Given the description of an element on the screen output the (x, y) to click on. 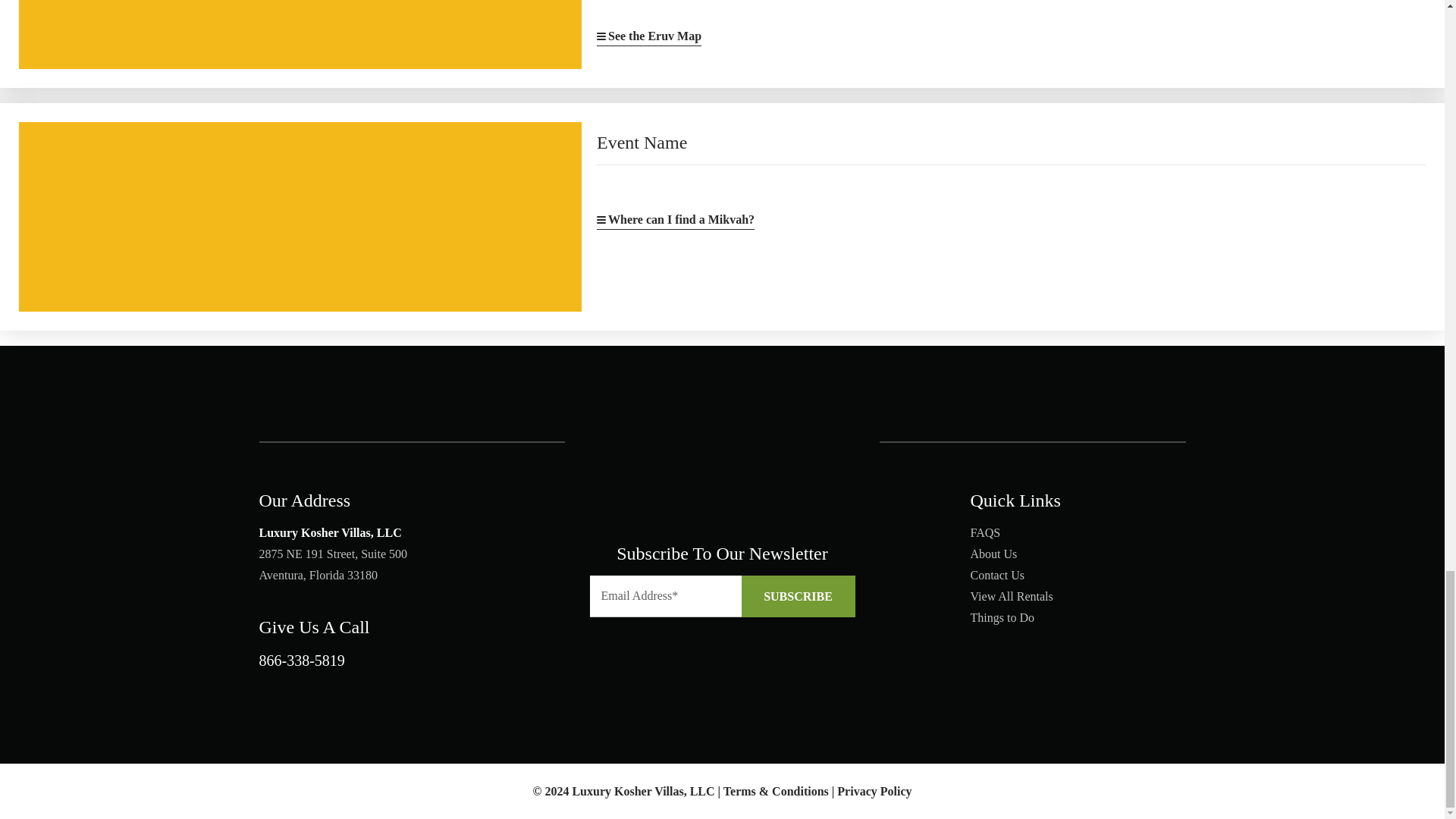
Subscribe (798, 596)
